Given the description of an element on the screen output the (x, y) to click on. 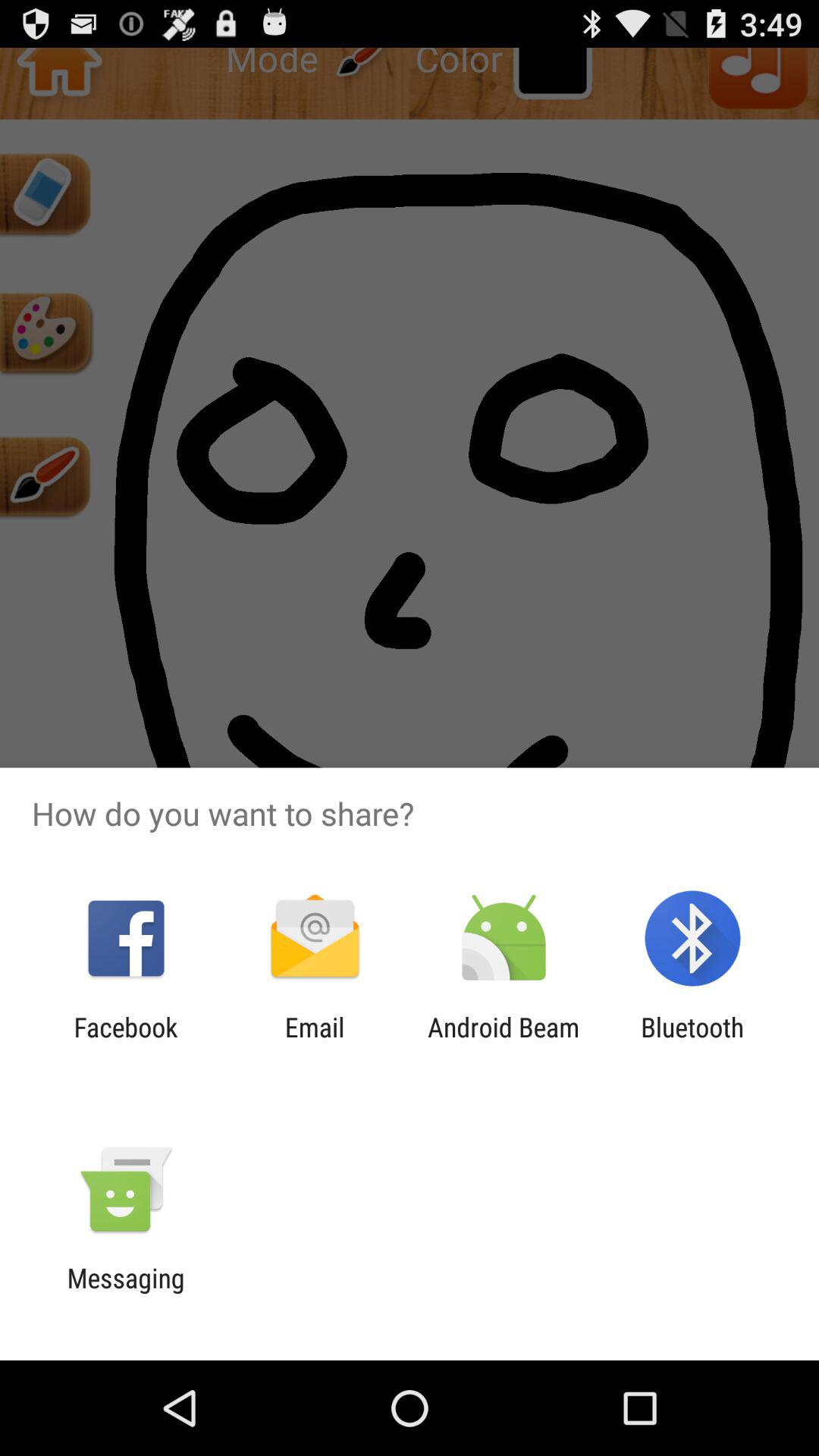
jump until the messaging item (125, 1293)
